Given the description of an element on the screen output the (x, y) to click on. 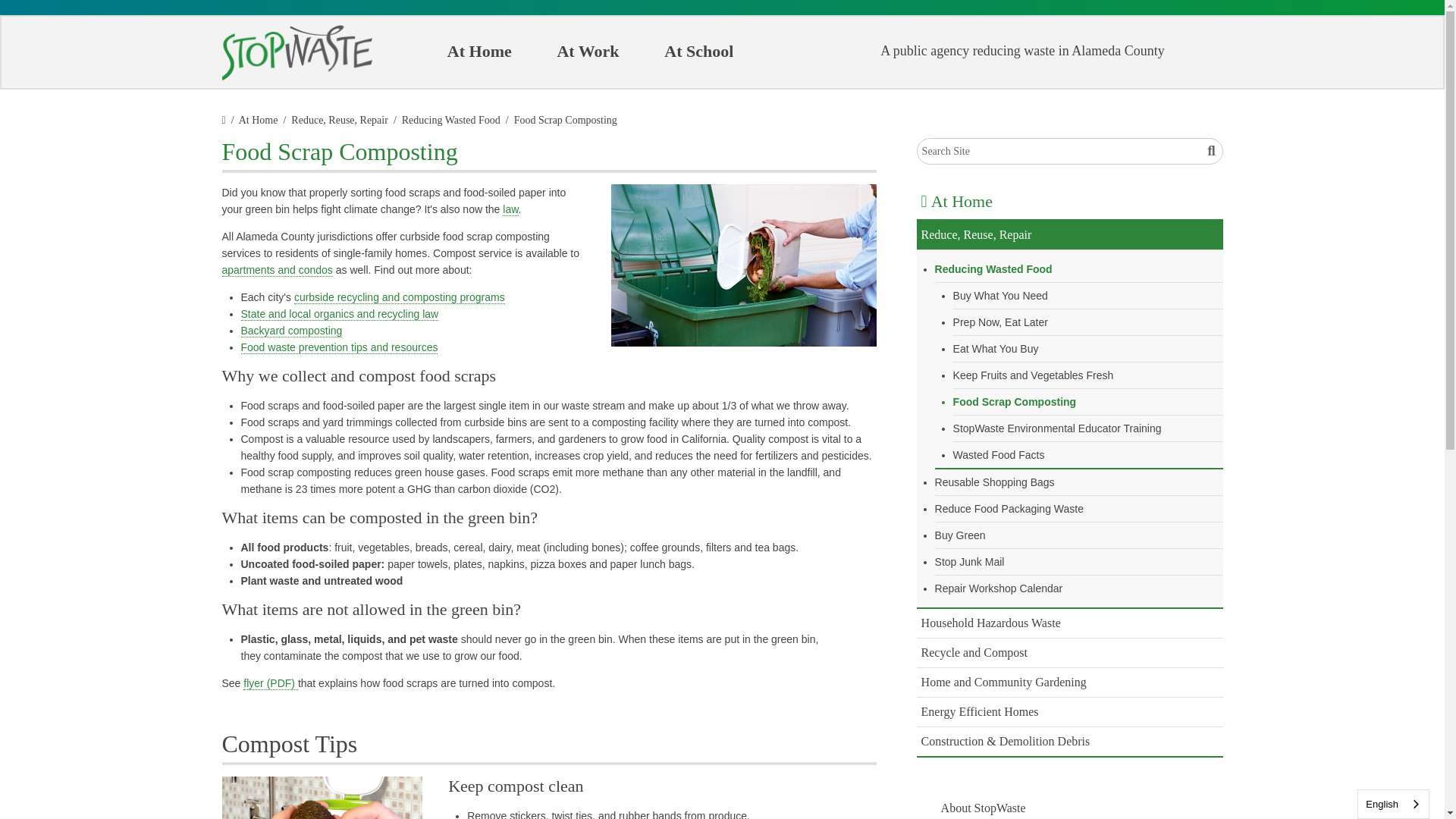
Enter the terms you wish to search for. (1070, 151)
Home (296, 52)
At Work (587, 51)
At School (698, 51)
At Home (478, 51)
